Given the description of an element on the screen output the (x, y) to click on. 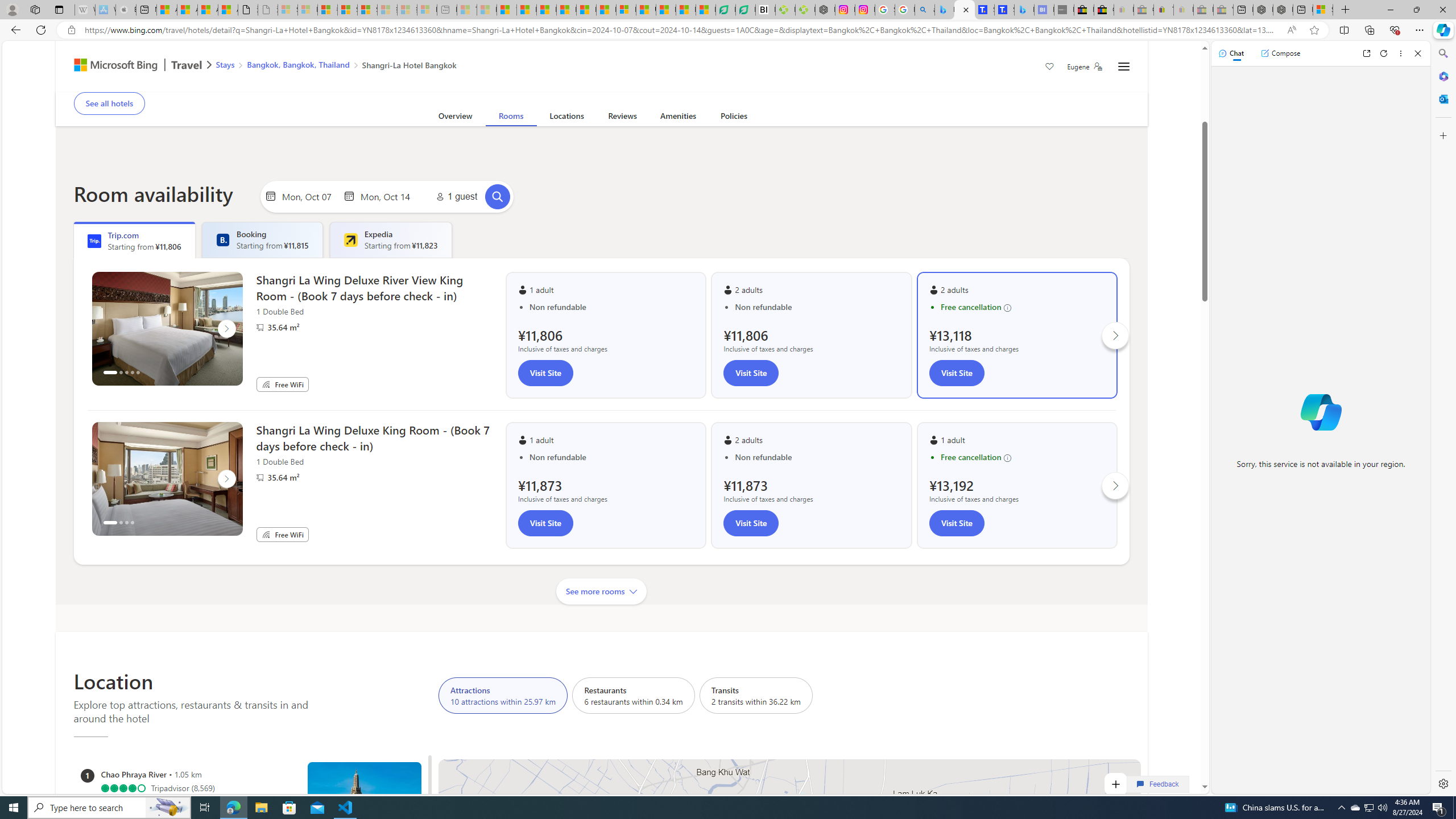
Sign in to your Microsoft account - Sleeping (287, 9)
Aberdeen, Hong Kong SAR severe weather | Microsoft Weather (227, 9)
